Given the description of an element on the screen output the (x, y) to click on. 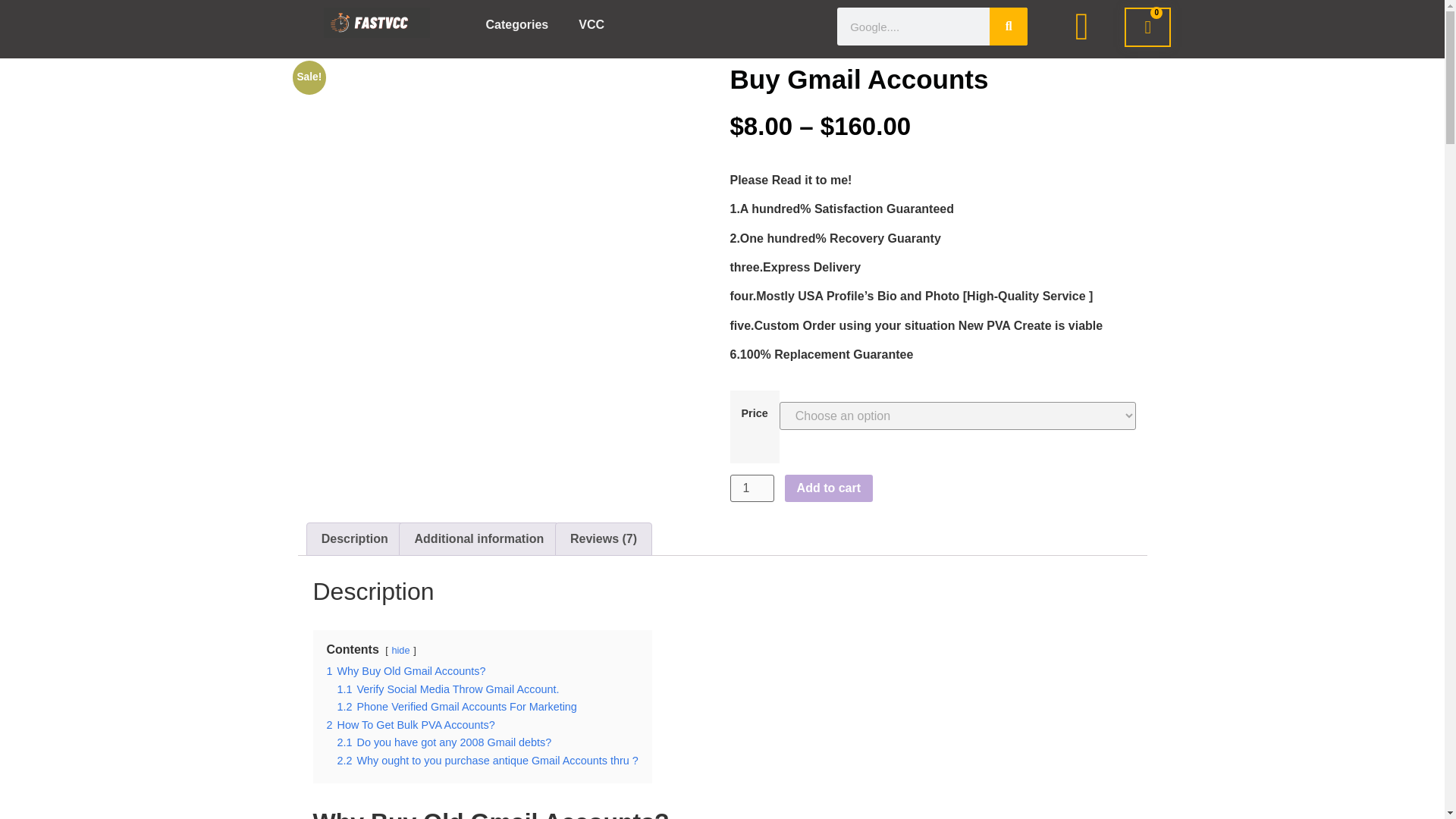
Additional information (477, 539)
Add to cart (828, 488)
Description (353, 539)
0 (1147, 26)
2 How To Get Bulk PVA Accounts? (410, 725)
1 Why Buy Old Gmail Accounts? (405, 671)
1.1 Verify Social Media Throw Gmail Account. (447, 689)
Categories (516, 24)
1 (751, 488)
1.2 Phone Verified Gmail Accounts For Marketing (456, 706)
